Given the description of an element on the screen output the (x, y) to click on. 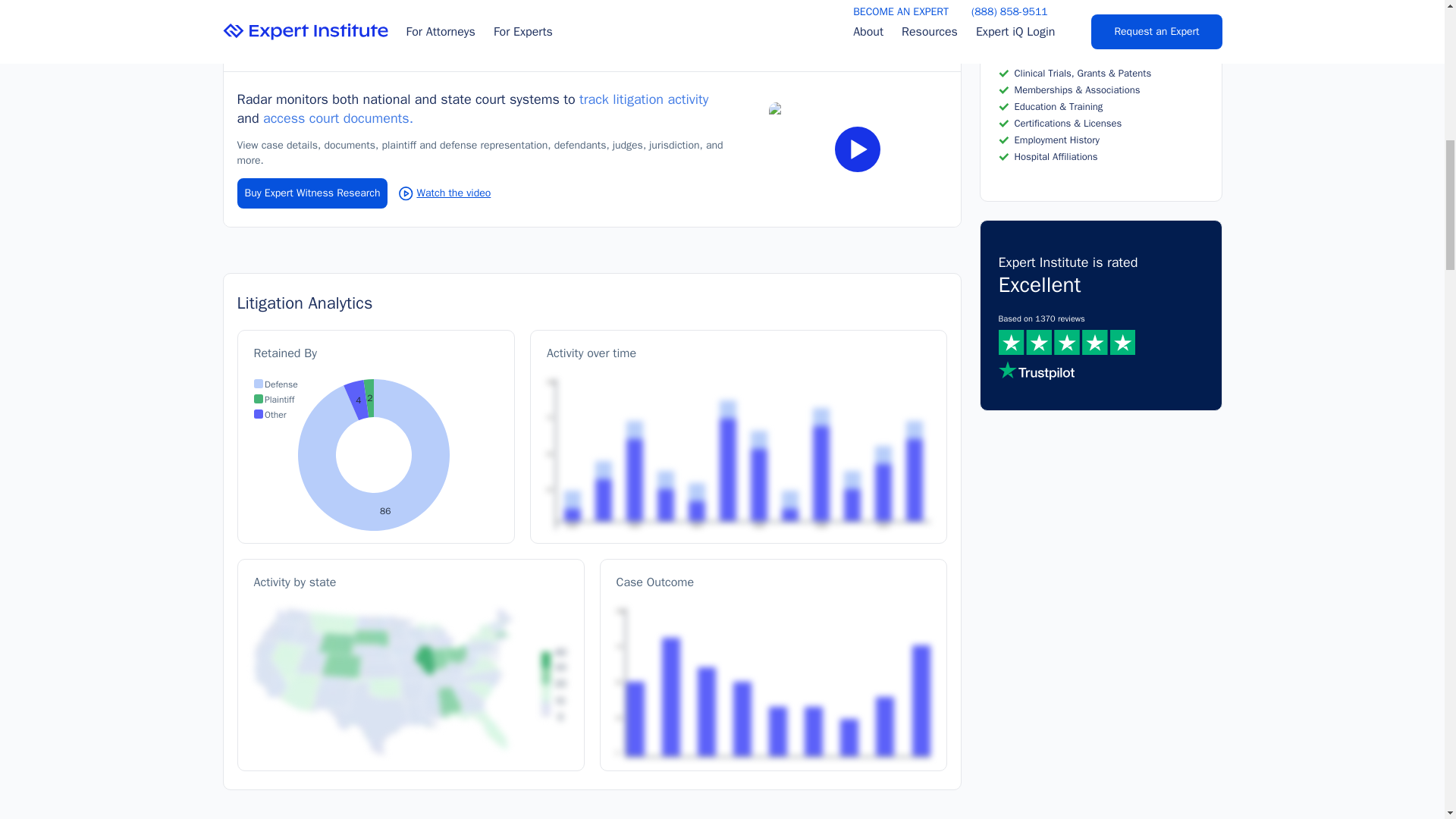
Watch the video (373, 454)
Buy Expert Witness Research (443, 192)
